Given the description of an element on the screen output the (x, y) to click on. 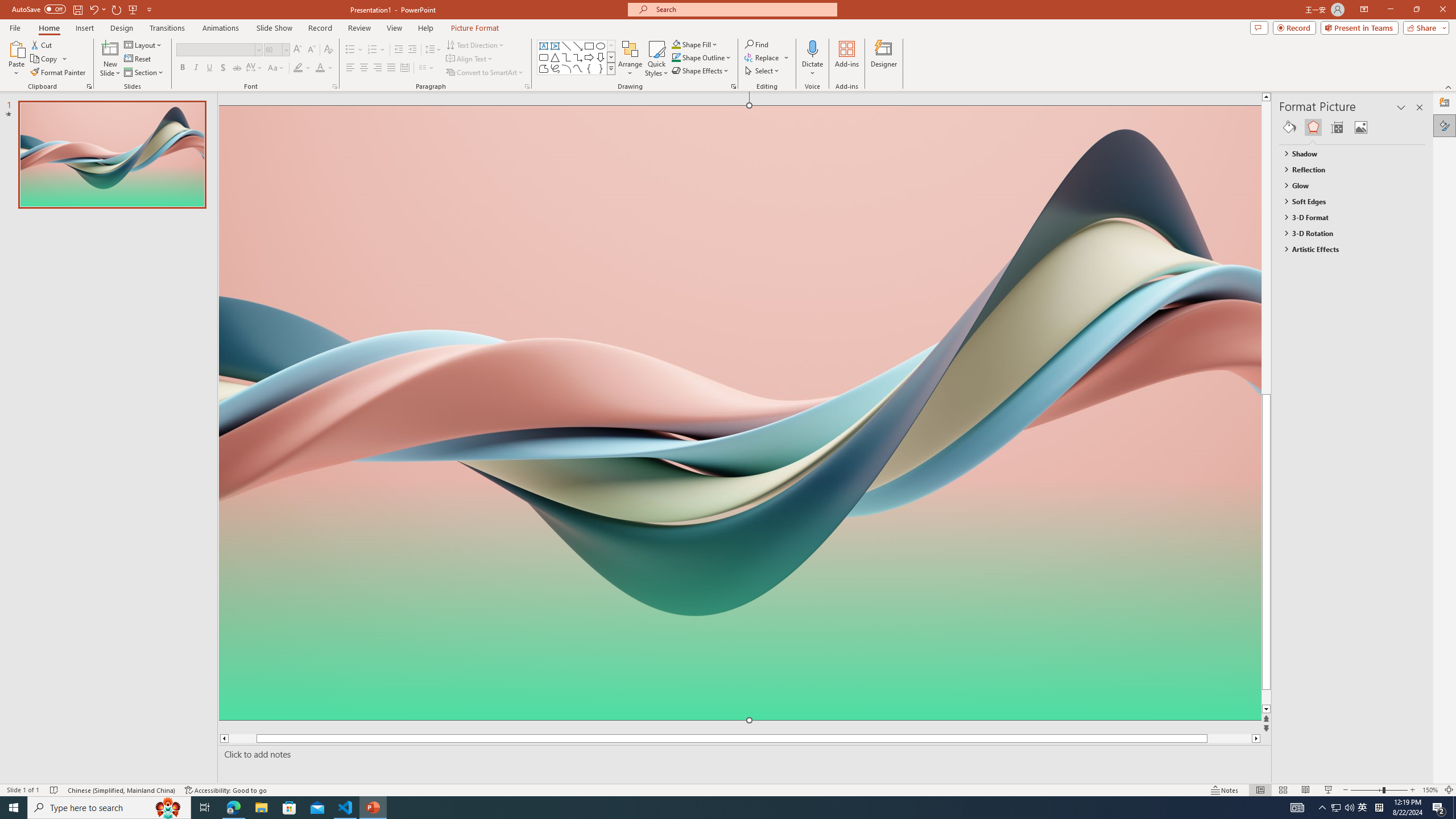
Reflection (1347, 169)
3-D Rotation (1347, 232)
Artistic Effects (1347, 248)
